Given the description of an element on the screen output the (x, y) to click on. 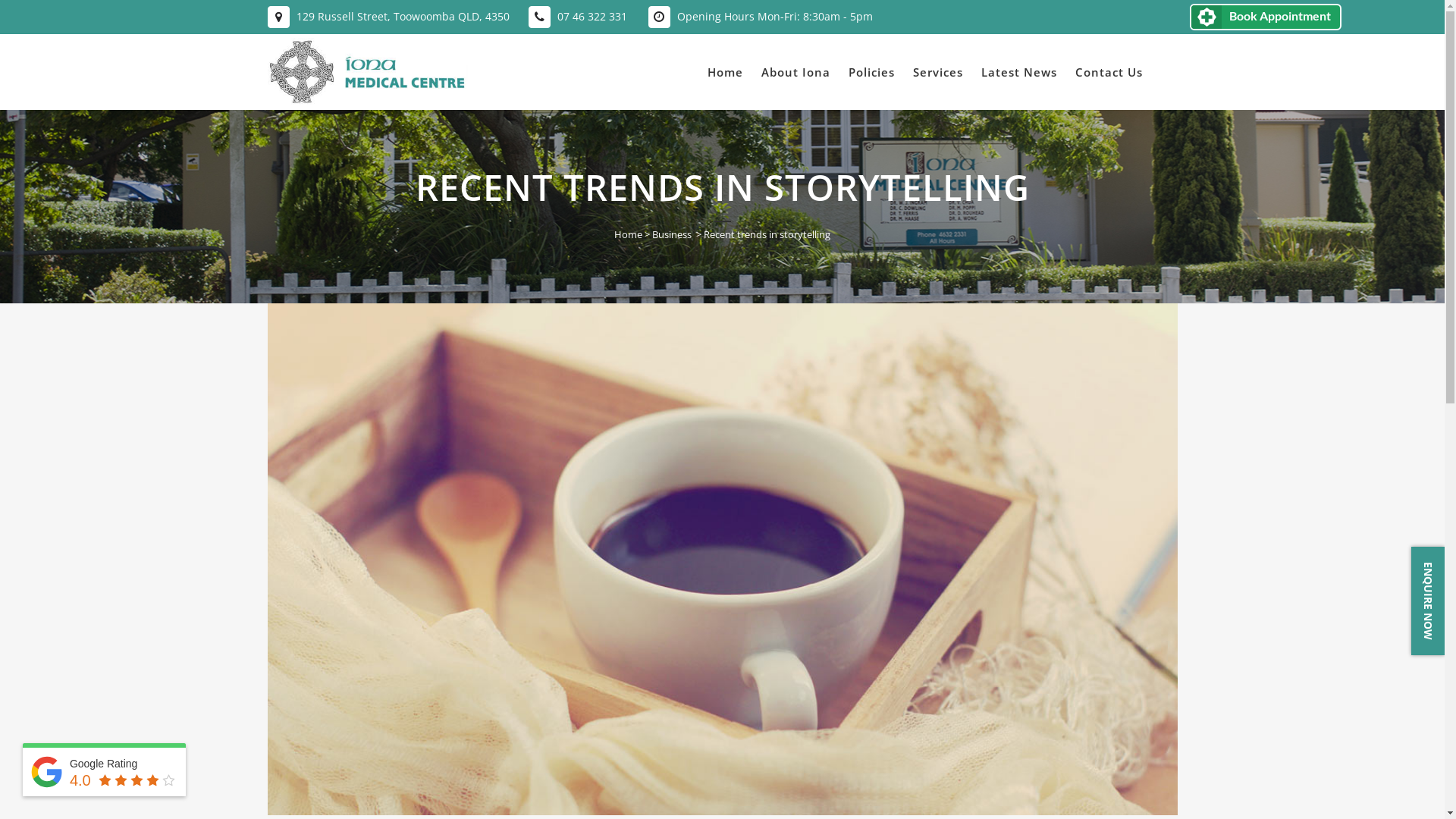
Home Element type: text (724, 71)
Book Appointment Element type: text (1265, 16)
Business Element type: text (671, 234)
Latest News Element type: text (1019, 71)
Home Element type: text (628, 234)
Services Element type: text (937, 71)
Contact Us Element type: text (1108, 71)
About Iona Element type: text (795, 71)
Policies Element type: text (870, 71)
